Given the description of an element on the screen output the (x, y) to click on. 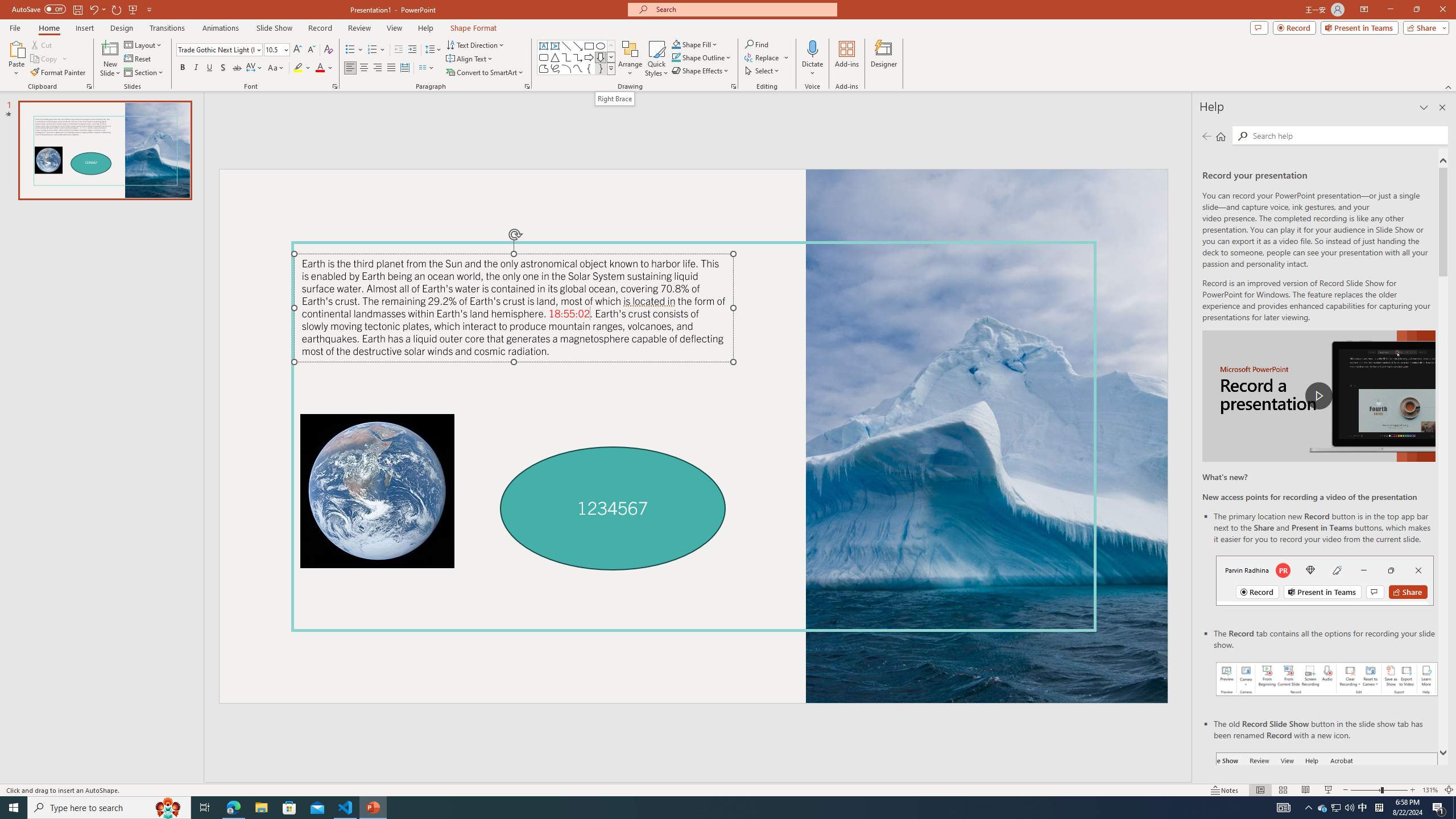
Shape Outline Teal, Accent 1 (675, 56)
Record button in top bar (1324, 580)
